Given the description of an element on the screen output the (x, y) to click on. 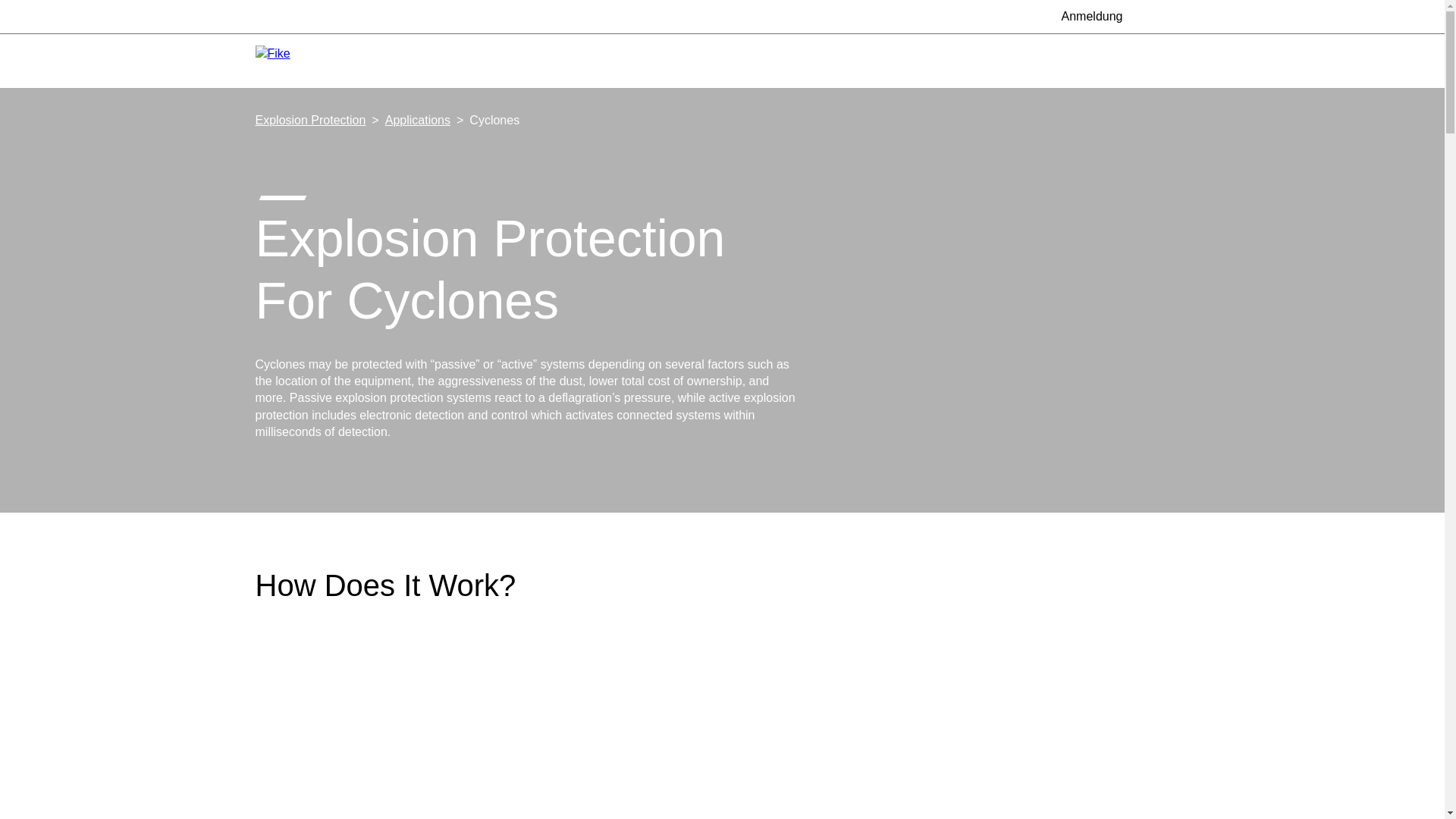
Explosion Protection (309, 119)
Fike - Cyclone (721, 765)
Anmeldung (1082, 16)
Applications (417, 119)
